Given the description of an element on the screen output the (x, y) to click on. 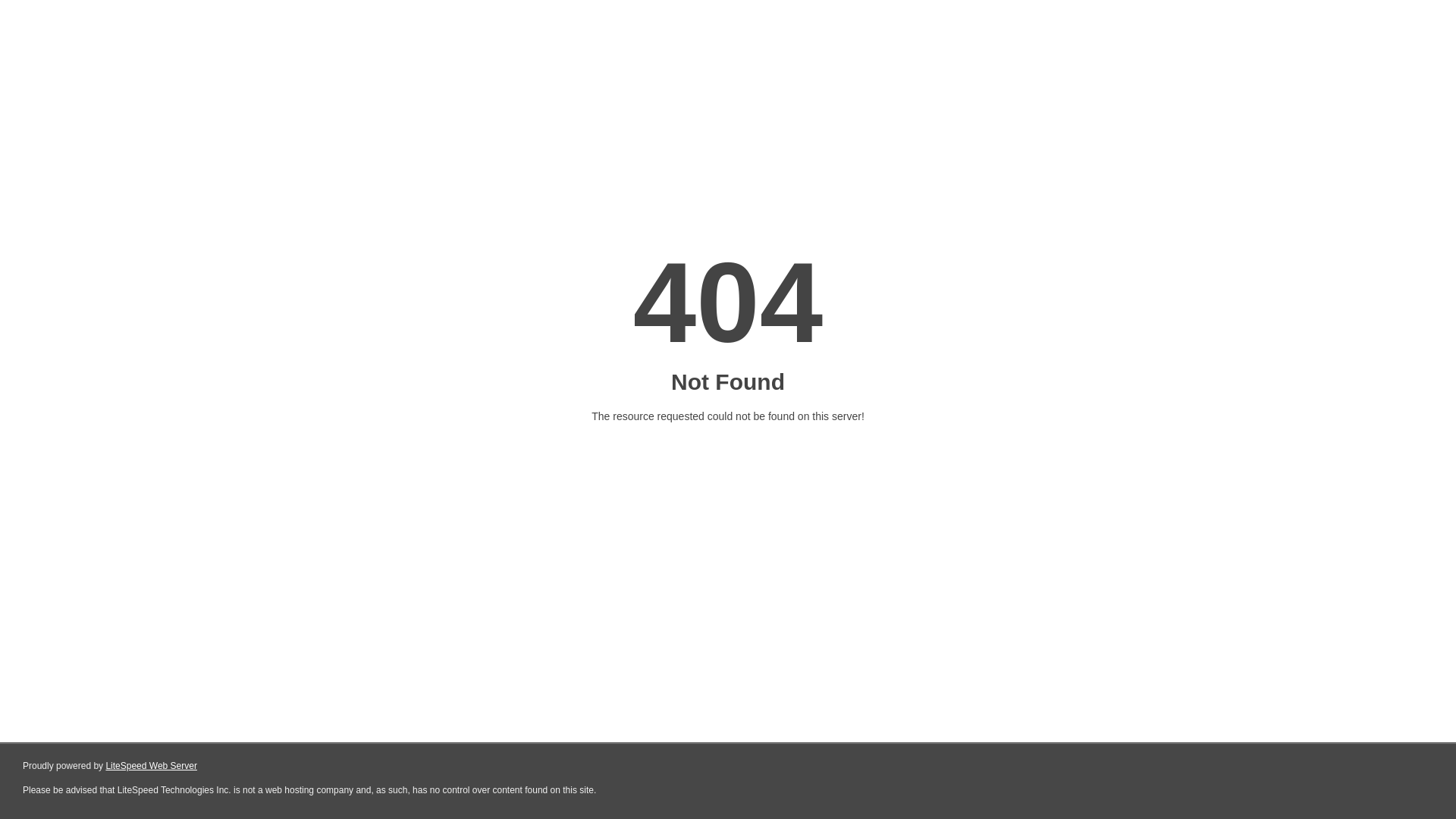
LiteSpeed Web Server Element type: text (151, 765)
